Given the description of an element on the screen output the (x, y) to click on. 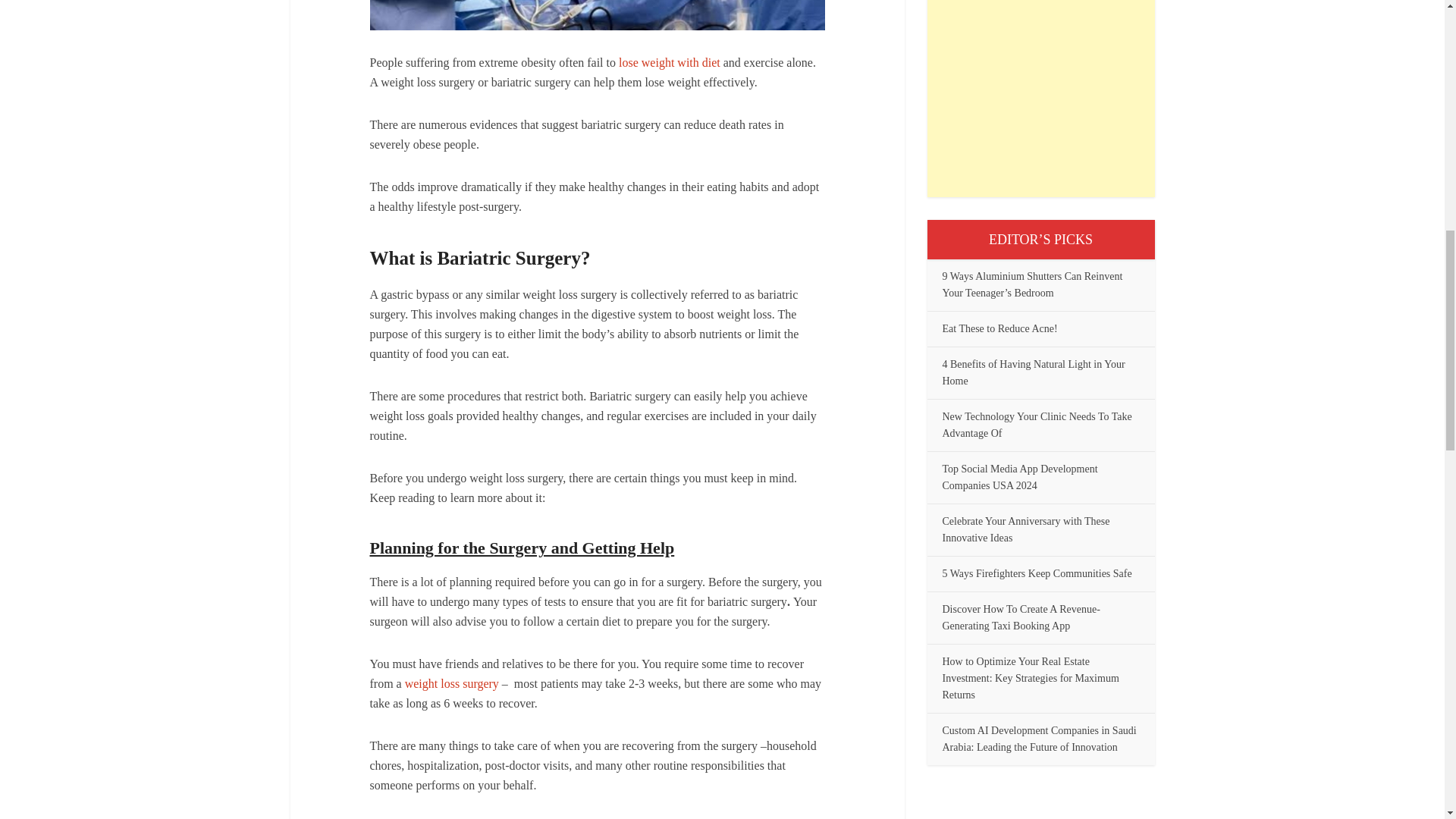
weight loss surgery (451, 683)
lose weight with diet (669, 62)
 and weight loss surgery (451, 683)
Advertisement (1040, 98)
